Given the description of an element on the screen output the (x, y) to click on. 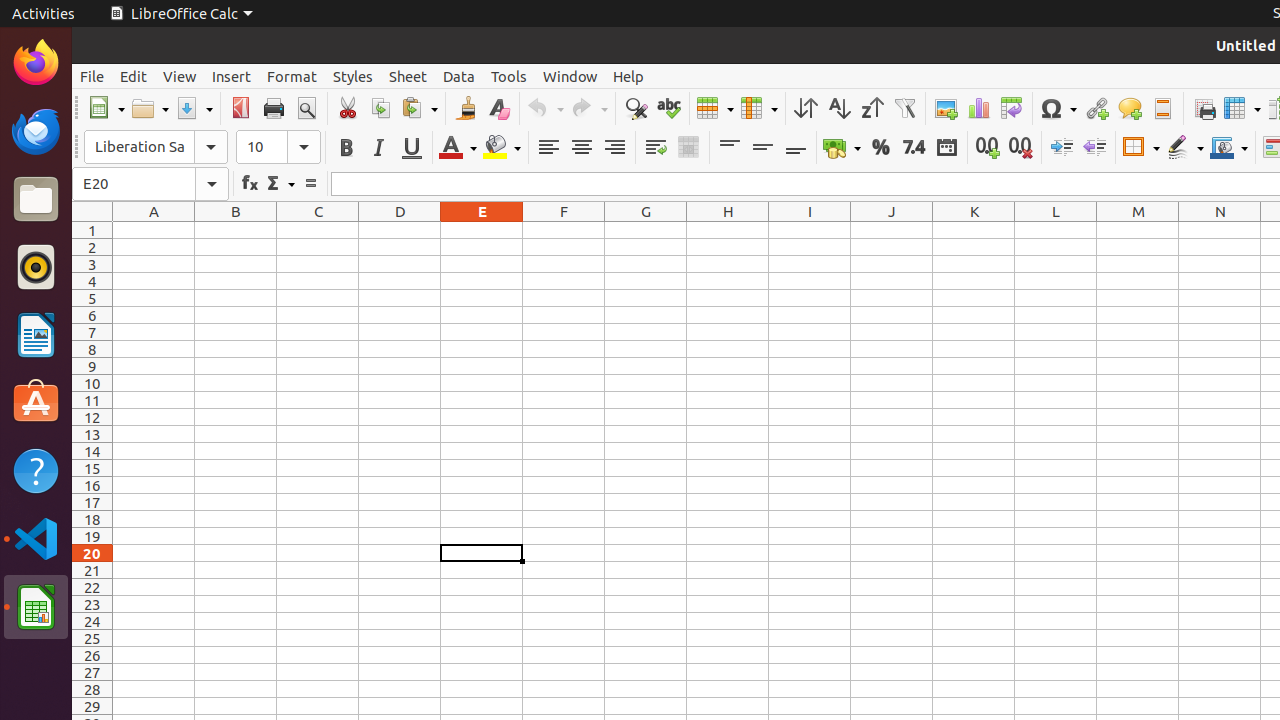
View Element type: menu (179, 76)
Save Element type: push-button (194, 108)
Italic Element type: toggle-button (378, 147)
File Element type: menu (92, 76)
Sort Element type: push-button (805, 108)
